Given the description of an element on the screen output the (x, y) to click on. 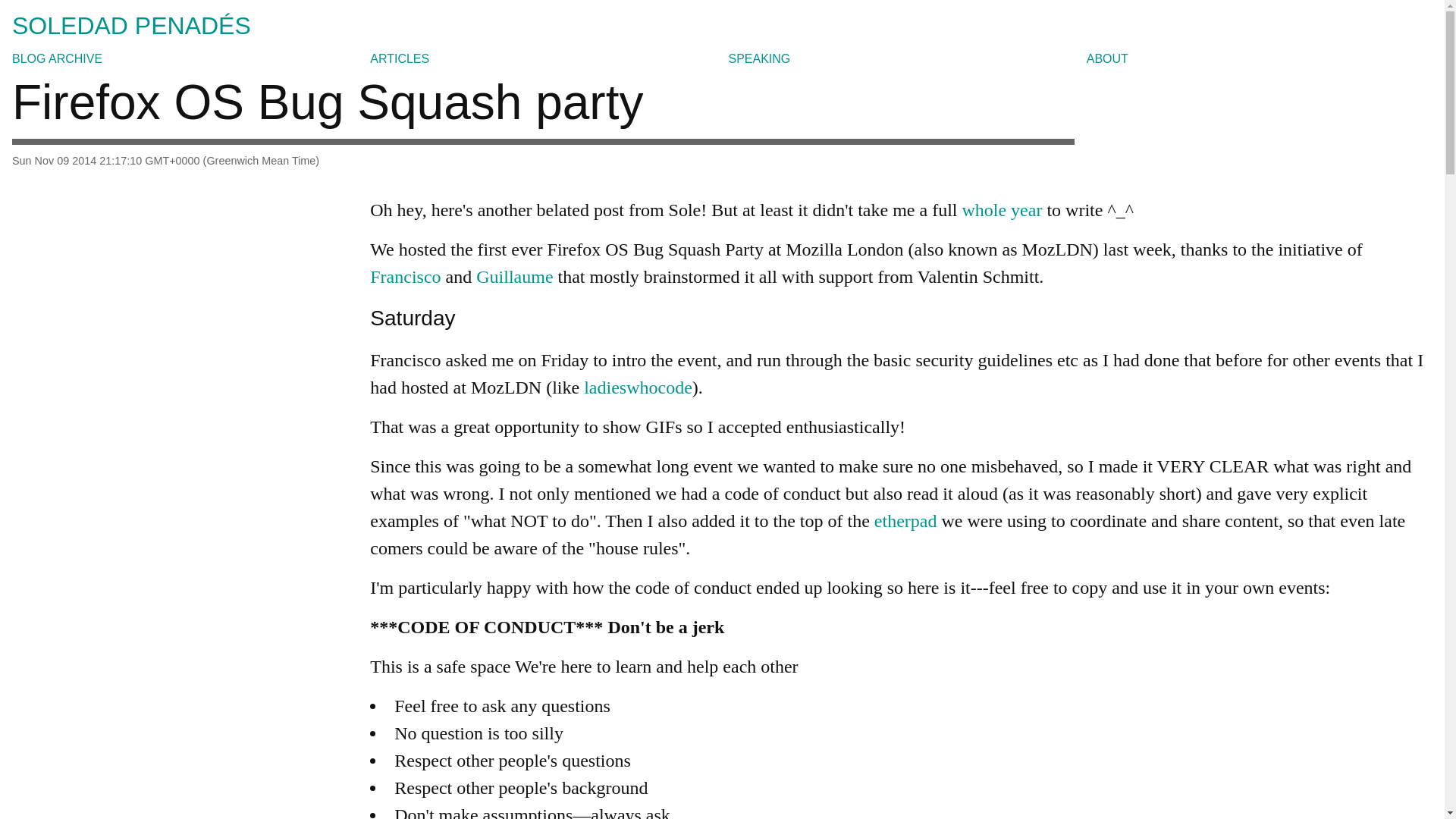
ARTICLES (399, 58)
BLOG ARCHIVE (56, 58)
ladieswhocode (638, 387)
whole year (1001, 209)
SPEAKING (759, 58)
Guillaume (514, 276)
etherpad (906, 520)
Francisco (405, 276)
ABOUT (1107, 58)
